Given the description of an element on the screen output the (x, y) to click on. 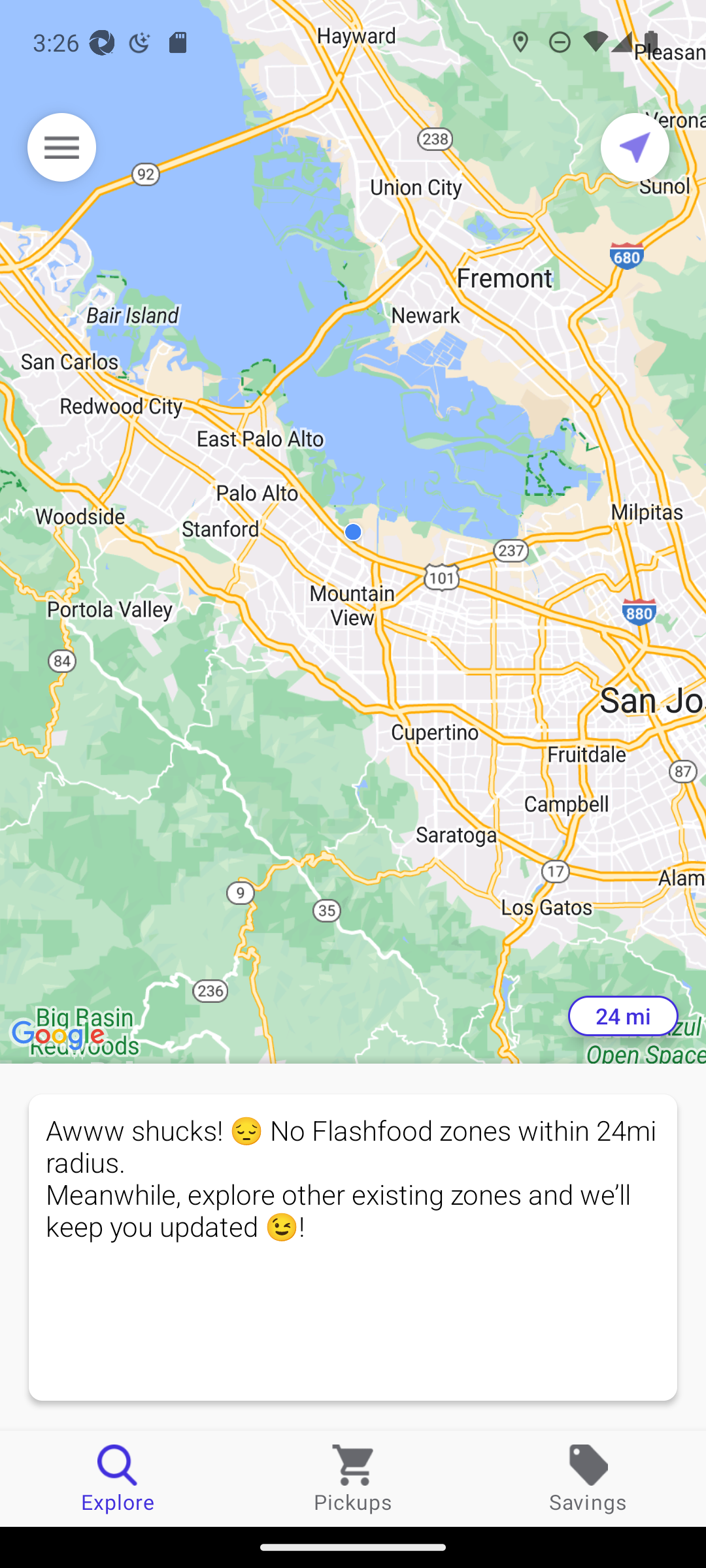
Menu (61, 146)
Current location (634, 146)
24 mi (623, 1015)
Pickups (352, 1478)
Savings (588, 1478)
